Given the description of an element on the screen output the (x, y) to click on. 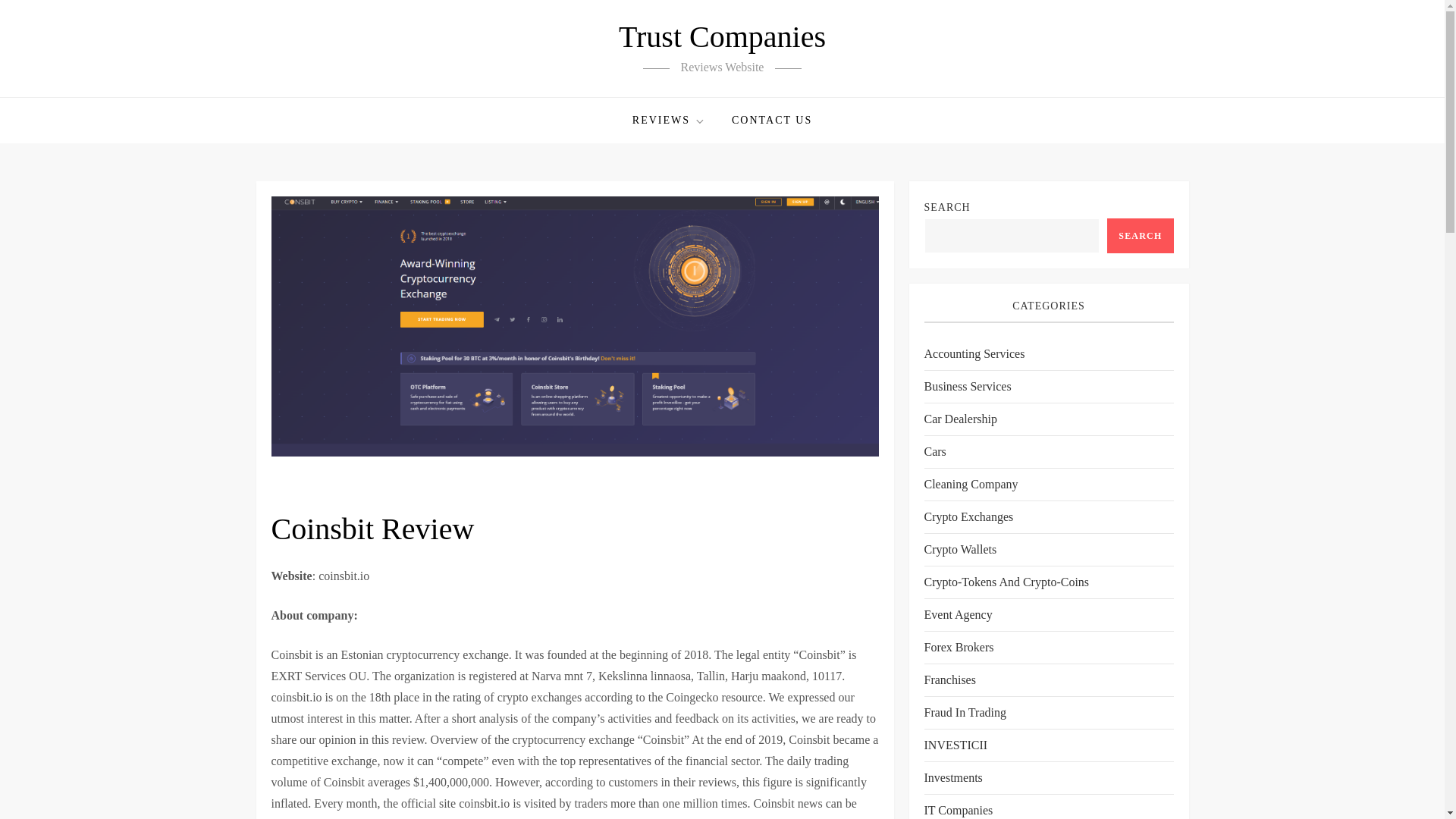
Trust Companies (721, 36)
CONTACT US (772, 120)
REVIEWS (669, 120)
